Given the description of an element on the screen output the (x, y) to click on. 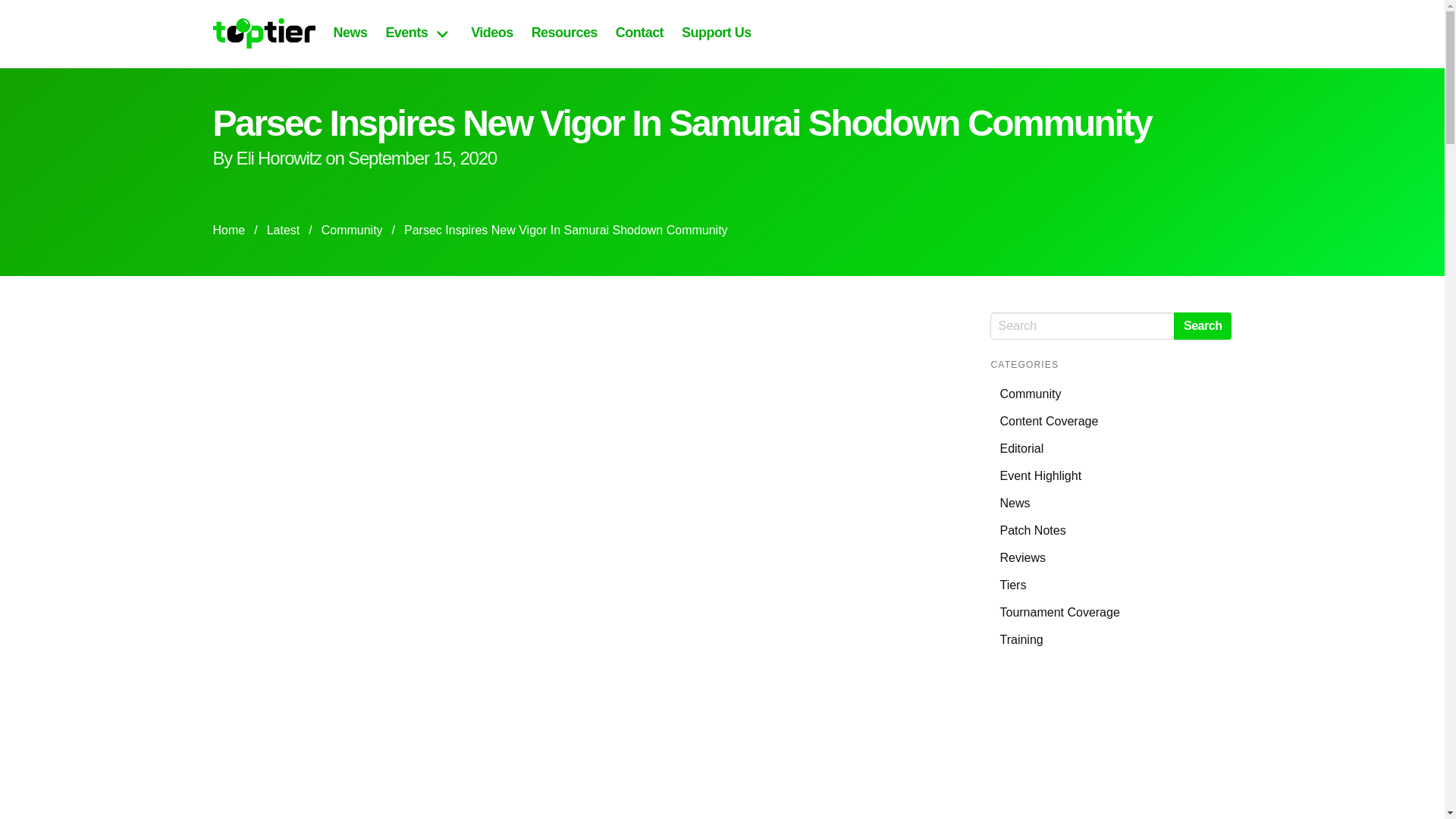
Support Us (716, 32)
Events (418, 32)
Videos (491, 32)
Go to the Community category archives. (352, 230)
Videos (491, 32)
Go to Latest. (282, 230)
News (350, 32)
Resources (563, 32)
Contact (639, 32)
Home (232, 230)
Support Us (716, 32)
Resources (563, 32)
Eli Horowitz (278, 157)
Community (352, 230)
